Given the description of an element on the screen output the (x, y) to click on. 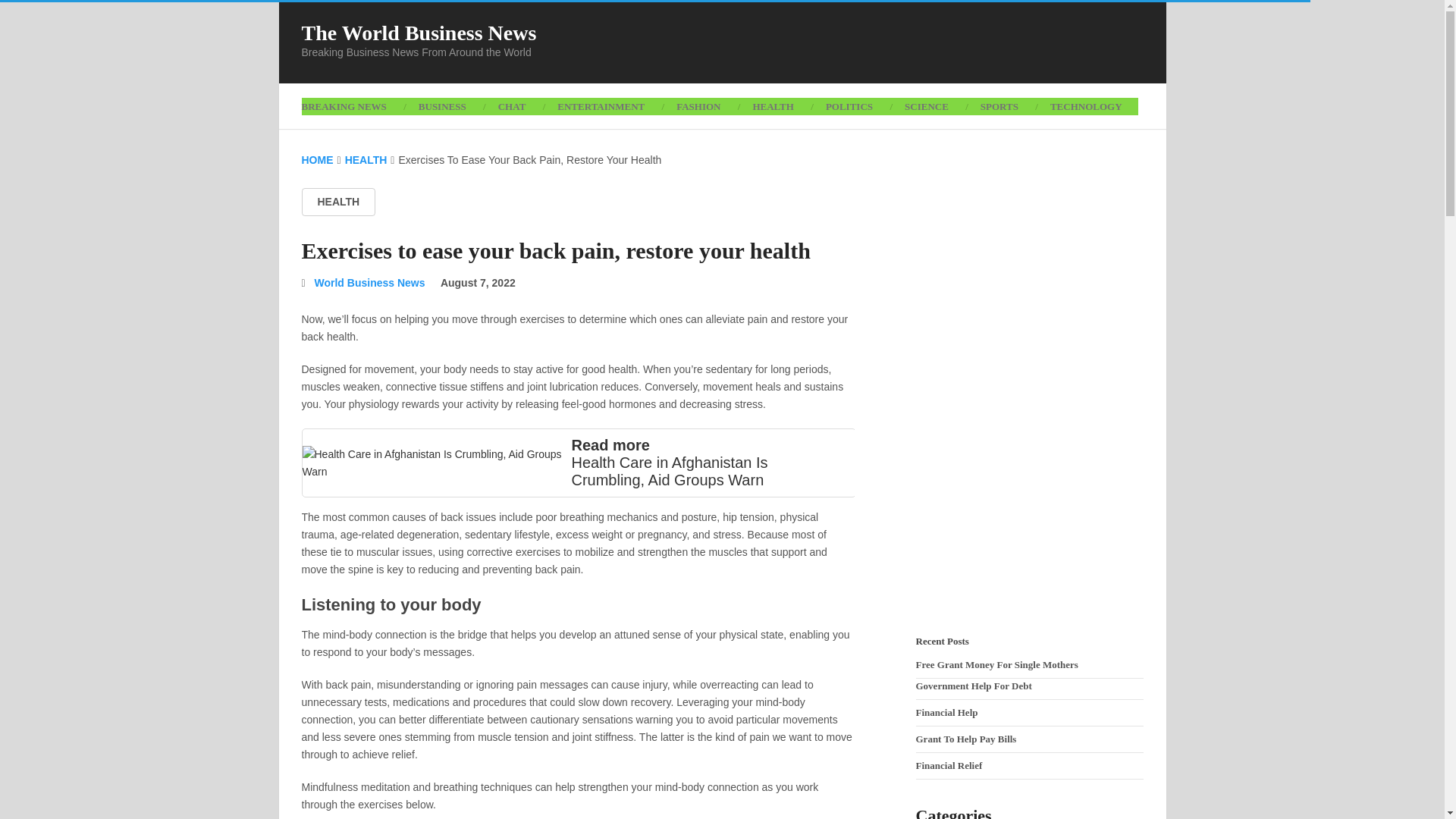
HEALTH (772, 105)
FASHION (698, 105)
SPORTS (998, 105)
HOME (317, 159)
Posts by World Business News (369, 282)
Financial Relief (948, 765)
BREAKING NEWS (352, 105)
BUSINESS (442, 105)
Financial Help (946, 712)
View all posts in Health (338, 202)
World Business News (369, 282)
The World Business News (419, 33)
CHAT (511, 105)
TECHNOLOGY (1085, 105)
SCIENCE (925, 105)
